Given the description of an element on the screen output the (x, y) to click on. 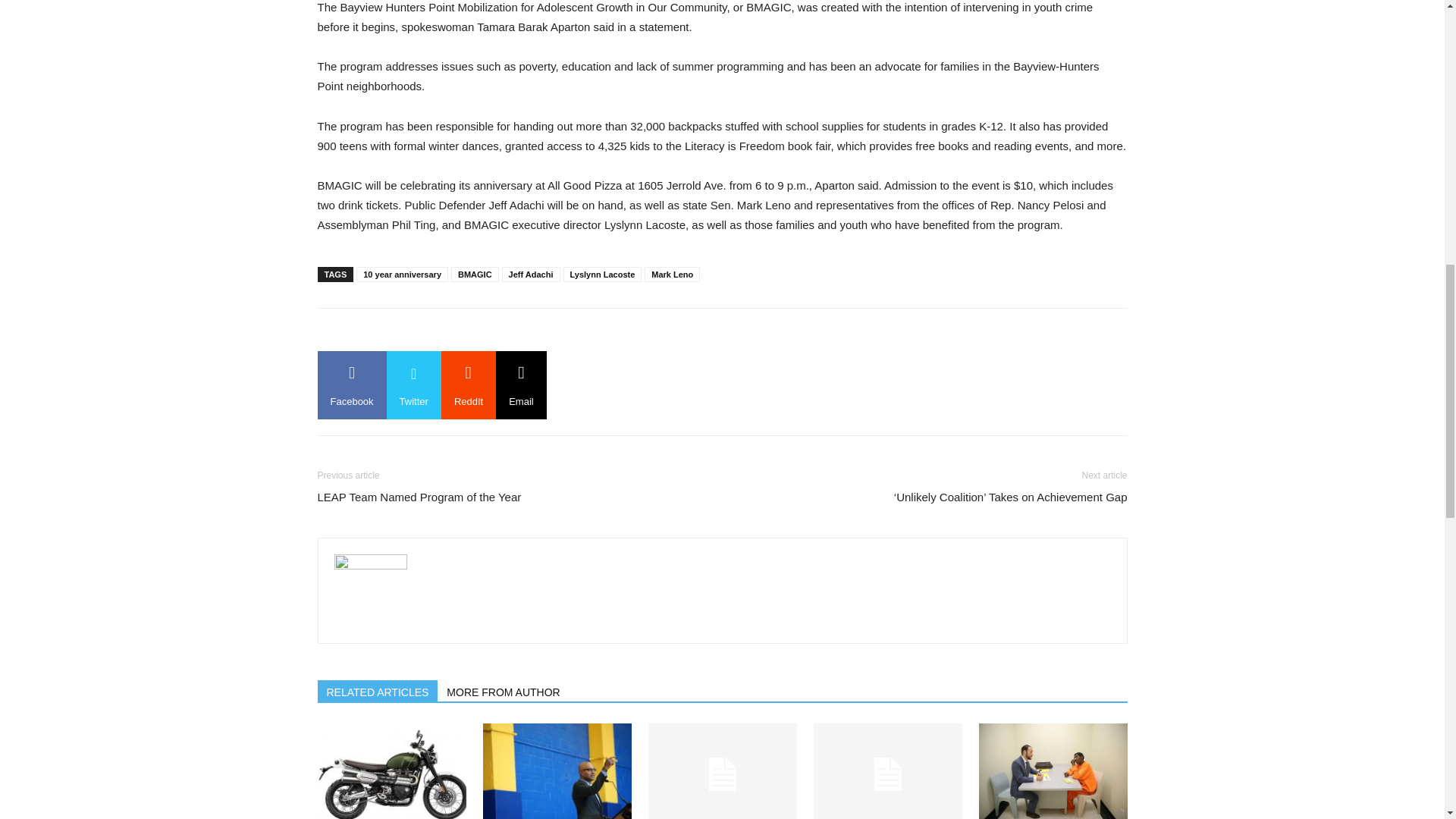
Lyslynn Lacoste (602, 273)
Jeff Adachi (531, 273)
BMAGIC (475, 273)
Facebook (351, 385)
10 year anniversary (402, 273)
